Given the description of an element on the screen output the (x, y) to click on. 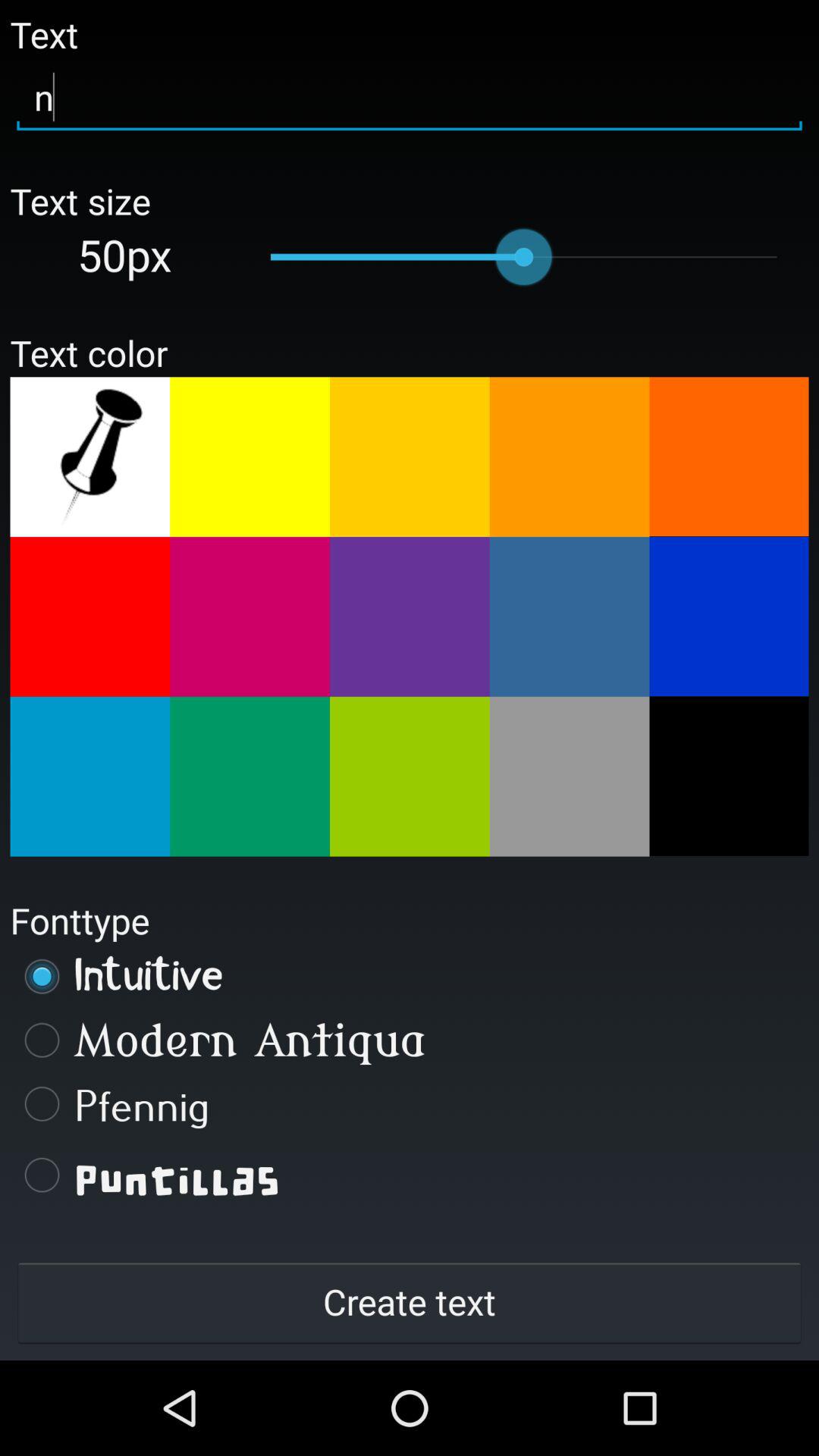
choose color (90, 776)
